Given the description of an element on the screen output the (x, y) to click on. 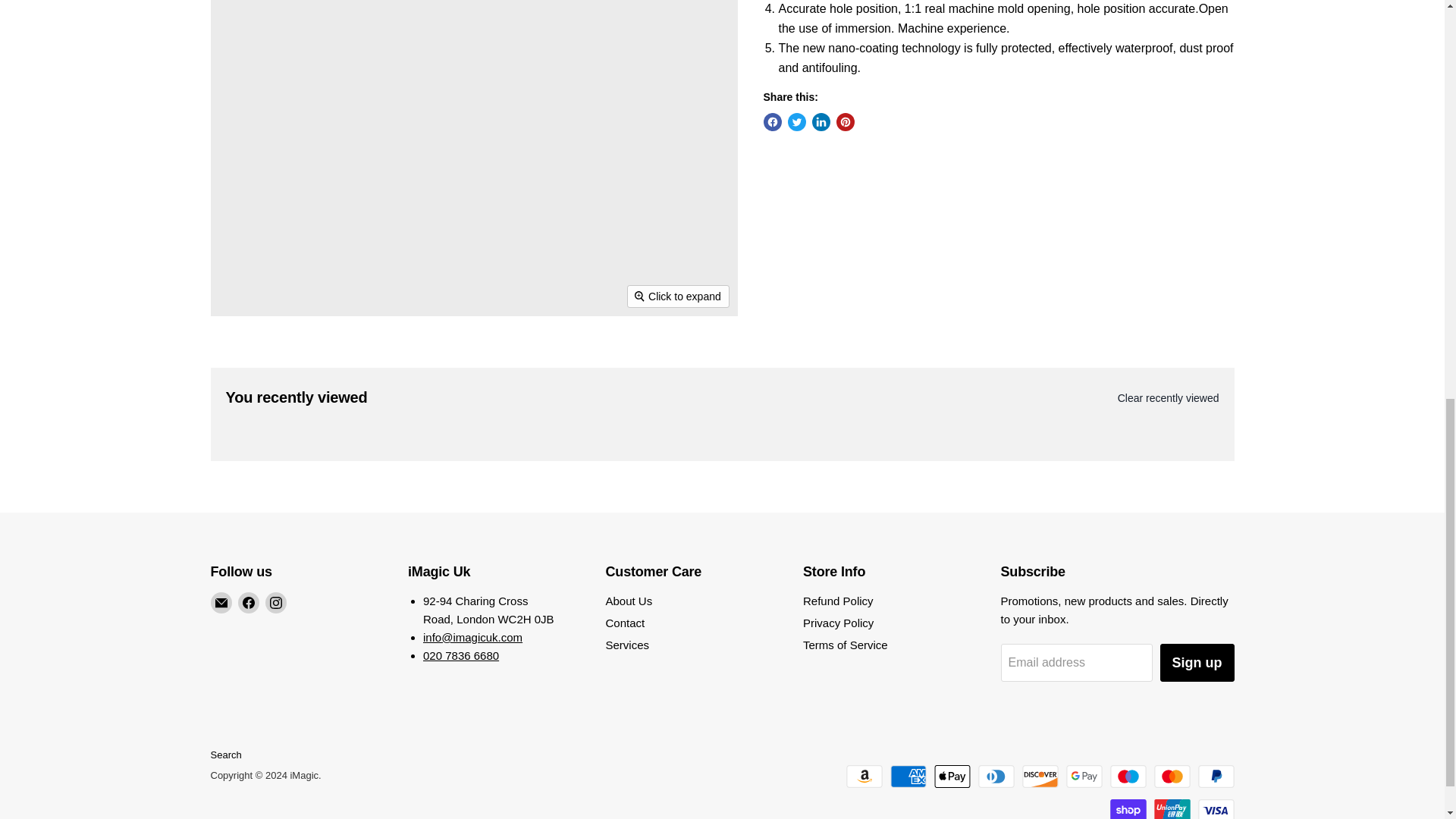
Apple Pay (952, 775)
Email (221, 602)
Facebook (248, 602)
American Express (907, 775)
Click to expand (678, 296)
Instagram (275, 602)
Diners Club (996, 775)
Amazon (863, 775)
